Given the description of an element on the screen output the (x, y) to click on. 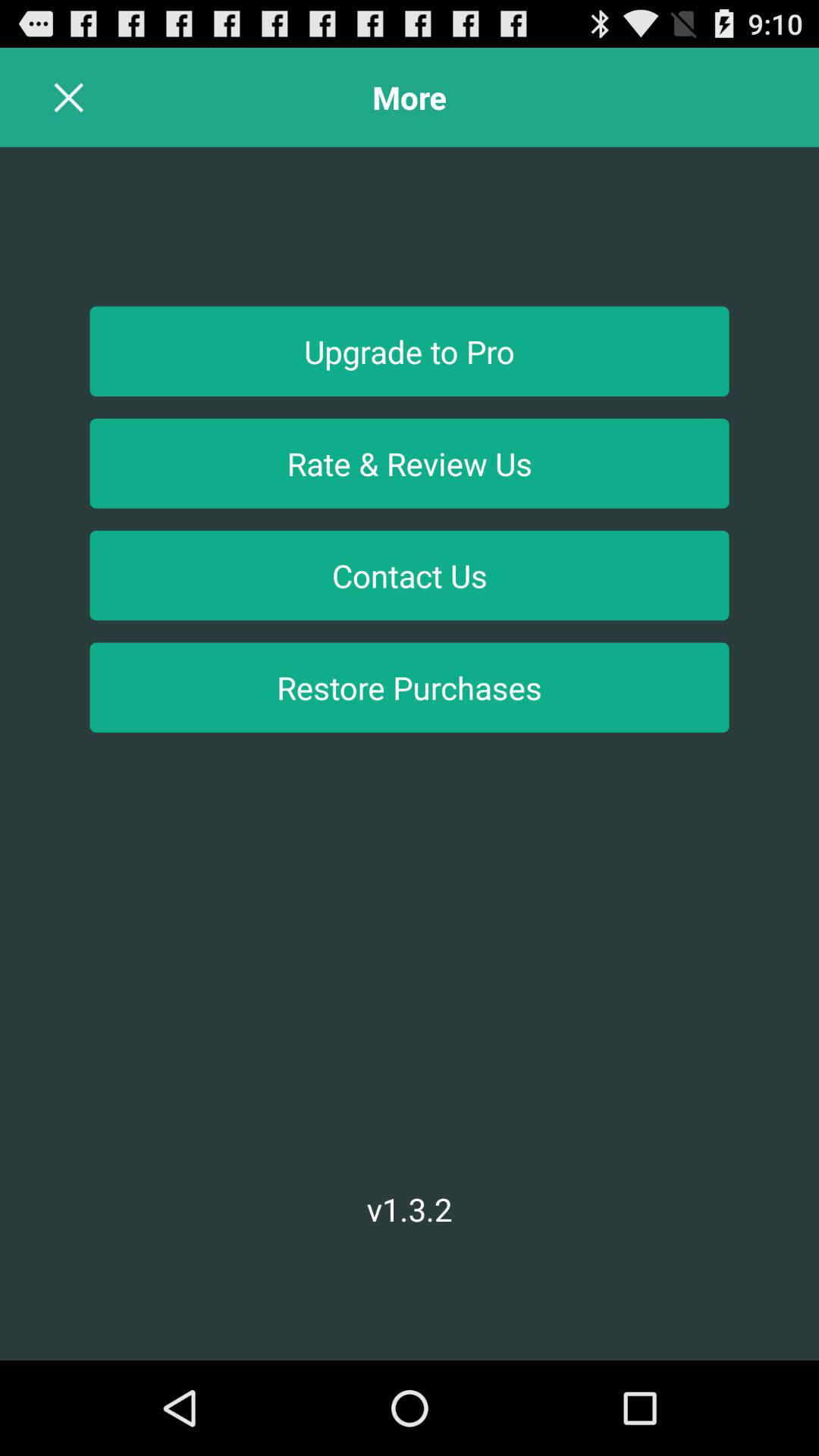
click contact us item (409, 575)
